Given the description of an element on the screen output the (x, y) to click on. 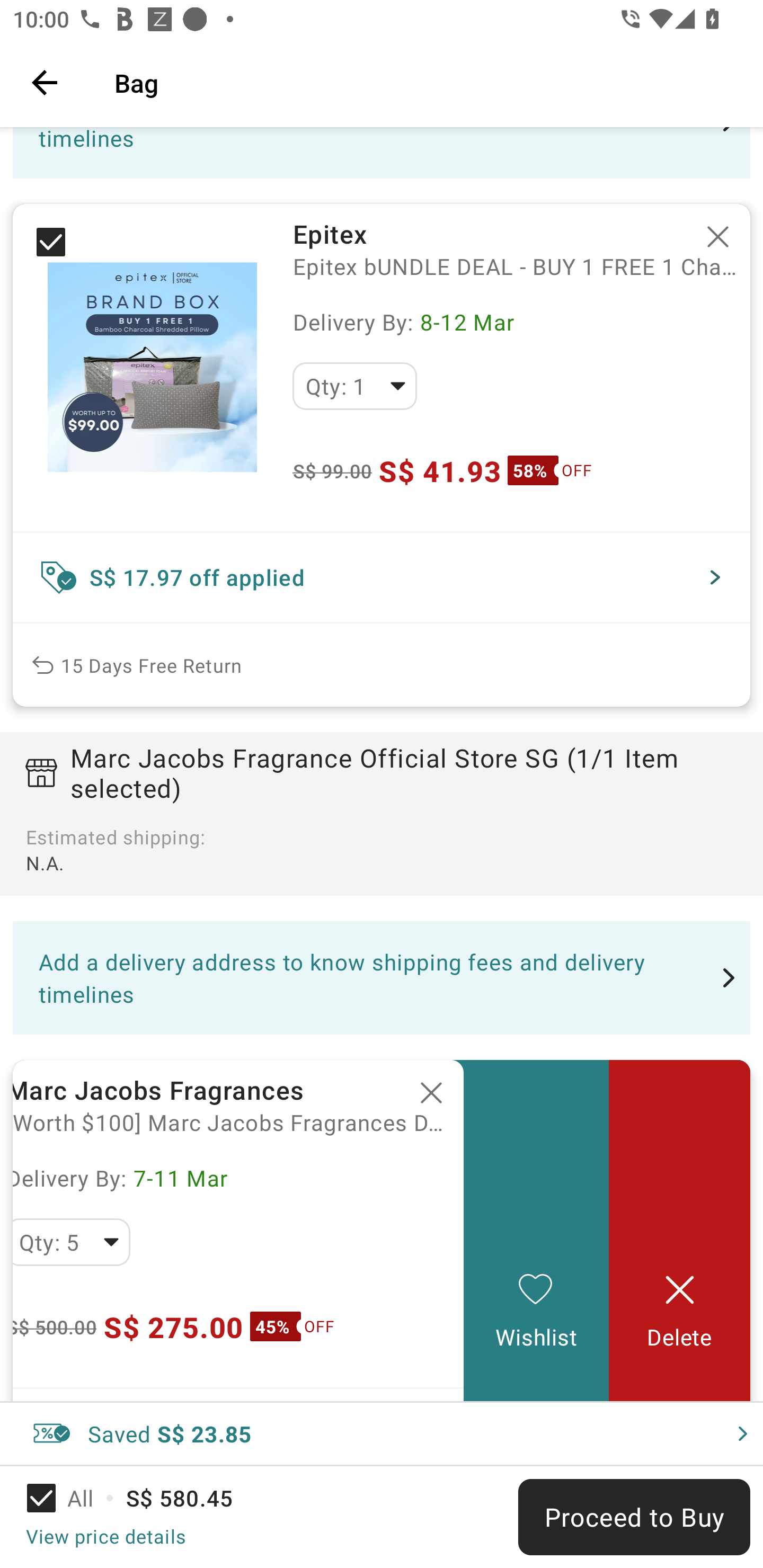
Navigate up (44, 82)
Bag (426, 82)
Qty: 1 (354, 385)
S$ 17.97 off applied (381, 577)
Wishlist (535, 1230)
Qty: 5 (71, 1241)
Saved S$ 23.85 (381, 1433)
All (72, 1497)
Proceed to Buy (634, 1516)
View price details (105, 1535)
